Given the description of an element on the screen output the (x, y) to click on. 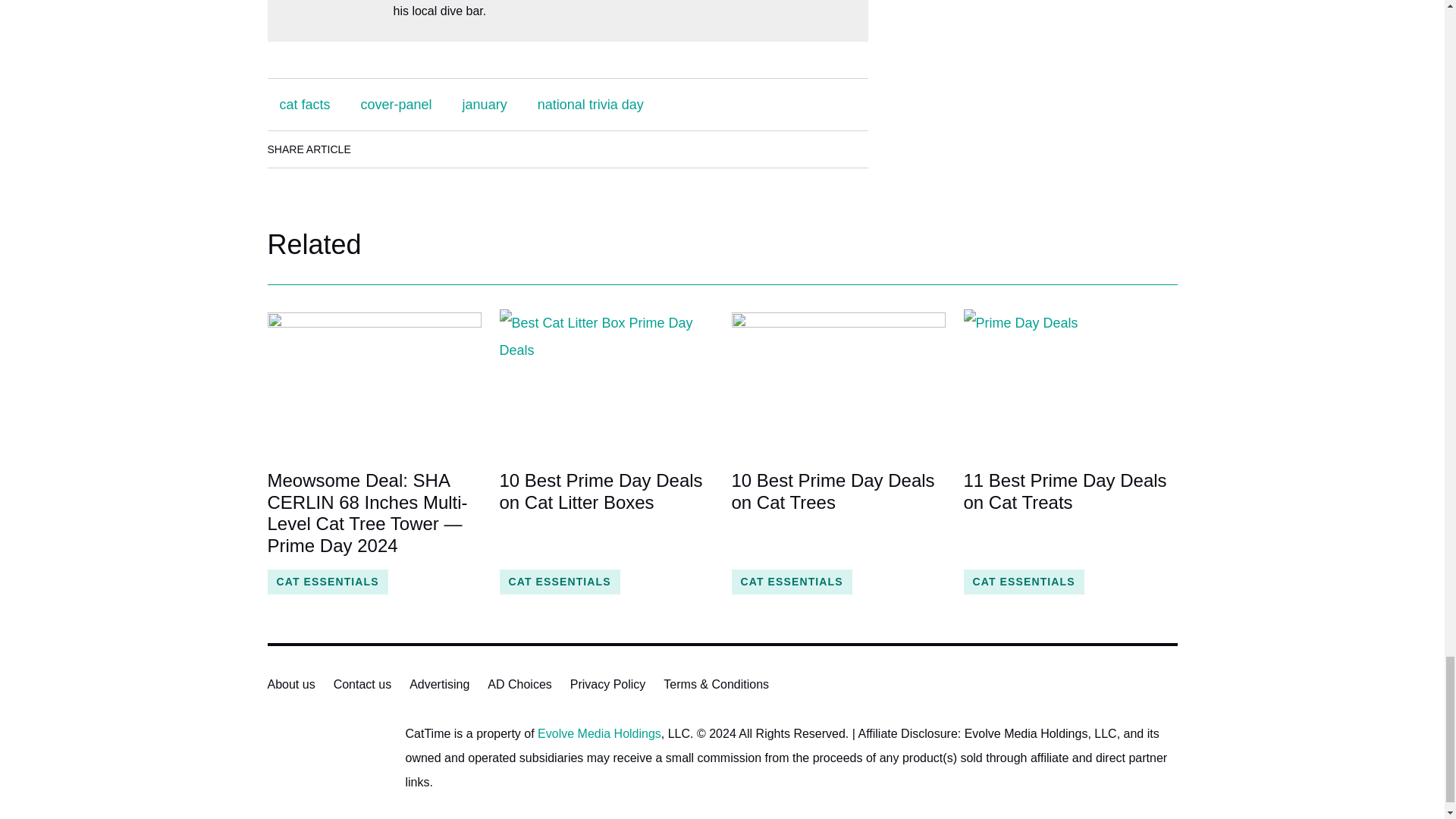
10 Best Prime Day Deals on Cat Trees (837, 513)
january (484, 103)
10 Best Prime Day Deals on Cat Litter Boxes (606, 380)
10 Best Prime Day Deals on Cat Litter Boxes (606, 513)
cat facts (304, 103)
national trivia day (590, 103)
10 Best Prime Day Deals on Cat Trees (837, 380)
cover-panel (396, 103)
